Given the description of an element on the screen output the (x, y) to click on. 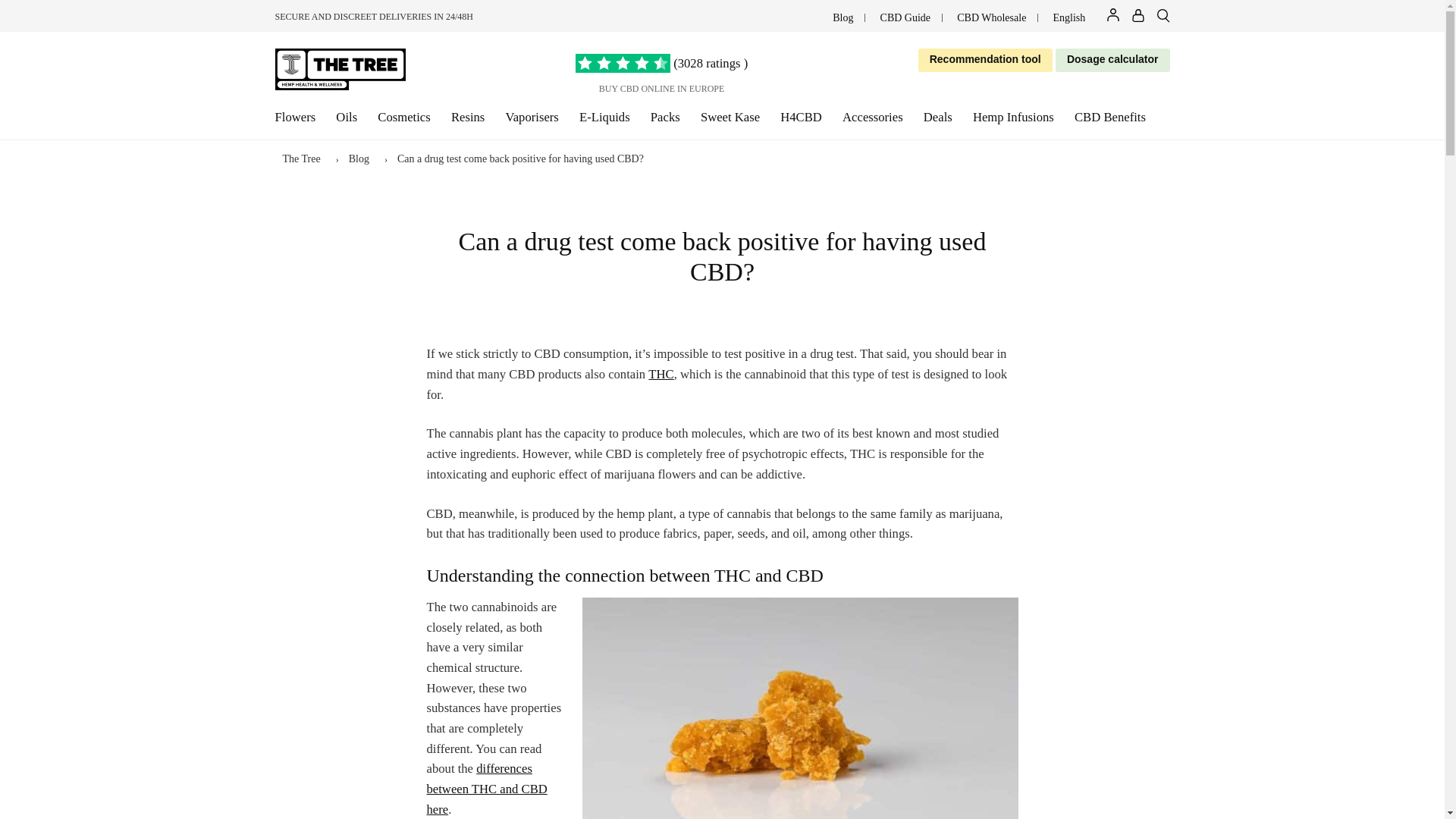
CBD Wholesale (991, 17)
Flowers (295, 117)
Dosage calculator (1112, 59)
CBD Guide (905, 17)
English (1069, 17)
Recommendation tool (985, 59)
Flowers (295, 117)
English (1069, 17)
Blog (842, 17)
